Given the description of an element on the screen output the (x, y) to click on. 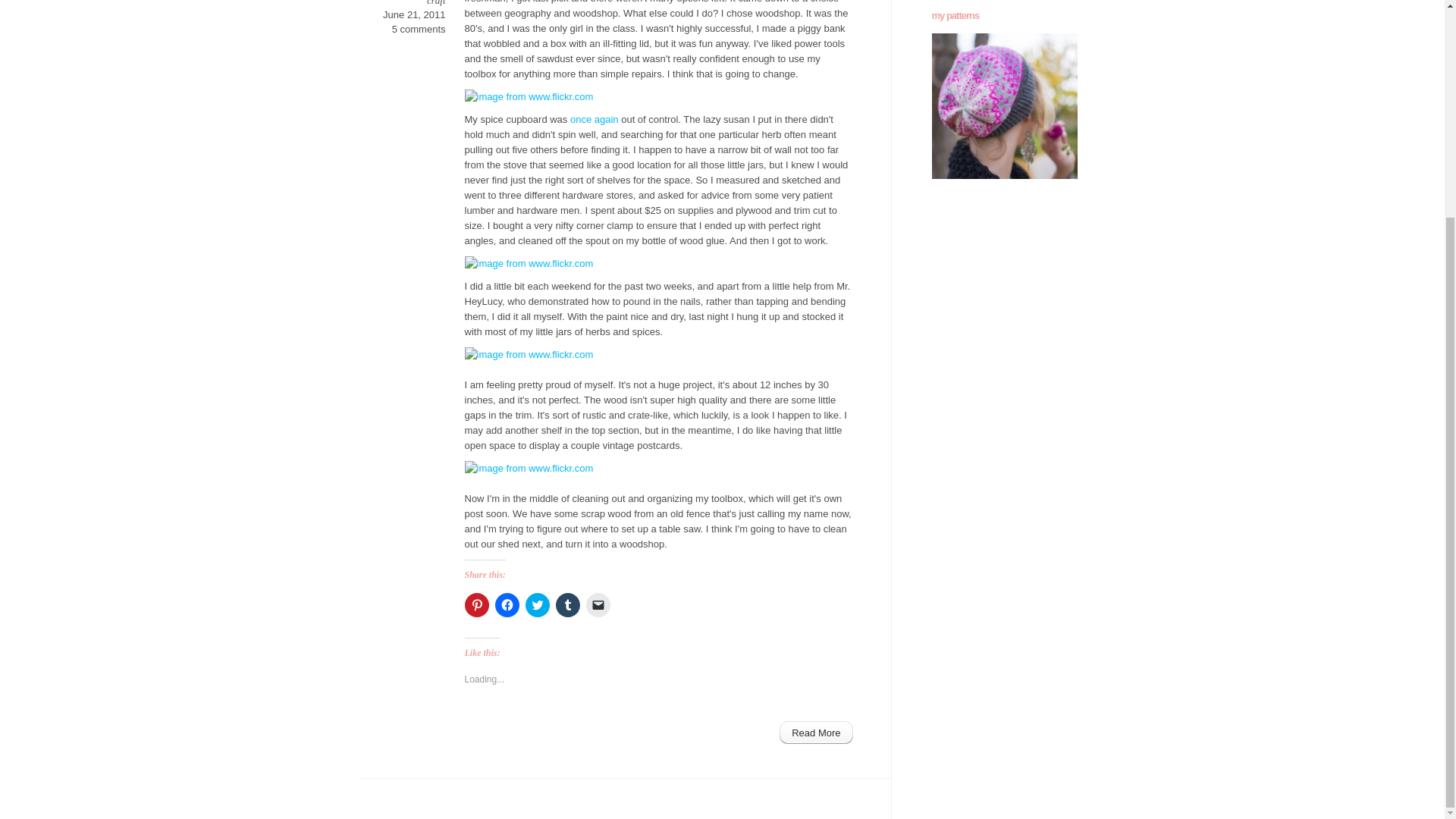
image from www.flickr.com (657, 263)
image from www.flickr.com (657, 96)
Click to share on Facebook (506, 604)
fairy stones hat (1004, 106)
Click to share on Pinterest (475, 604)
Read More (814, 732)
Click to email a link to a friend (597, 604)
image from www.flickr.com (657, 468)
craft (435, 2)
once again (594, 119)
